Given the description of an element on the screen output the (x, y) to click on. 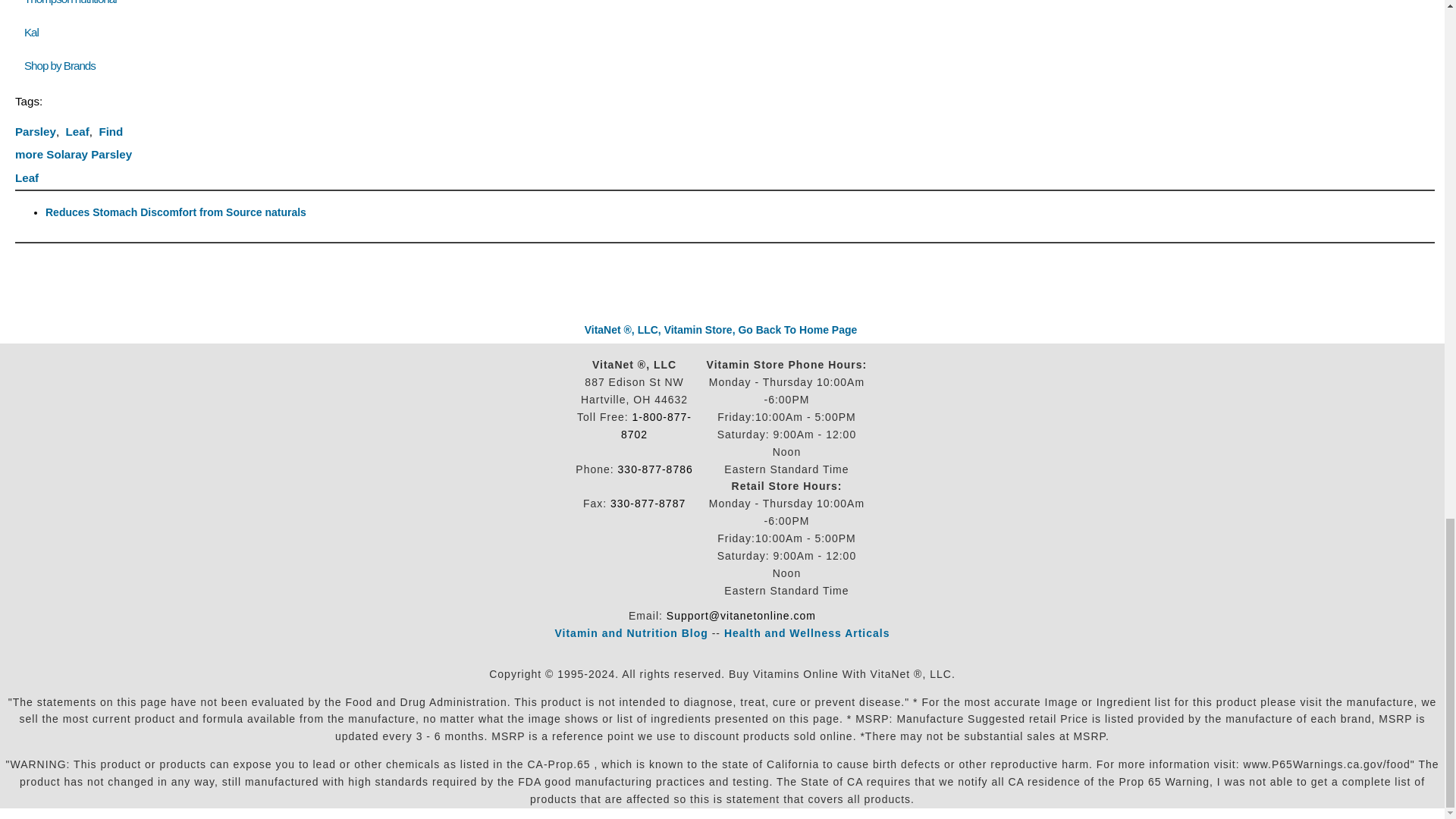
Find more Solaray Parsley Leaf (73, 154)
Thompson Nutritional Products (70, 2)
Search for: Leaf (76, 131)
Search for: Parsley (35, 131)
Kal Brand Products (31, 31)
Shop by Brand Complete list (62, 65)
Reduces Stomach Discomfort from Source naturals (175, 212)
VitaNet Home Page Link (721, 329)
